Given the description of an element on the screen output the (x, y) to click on. 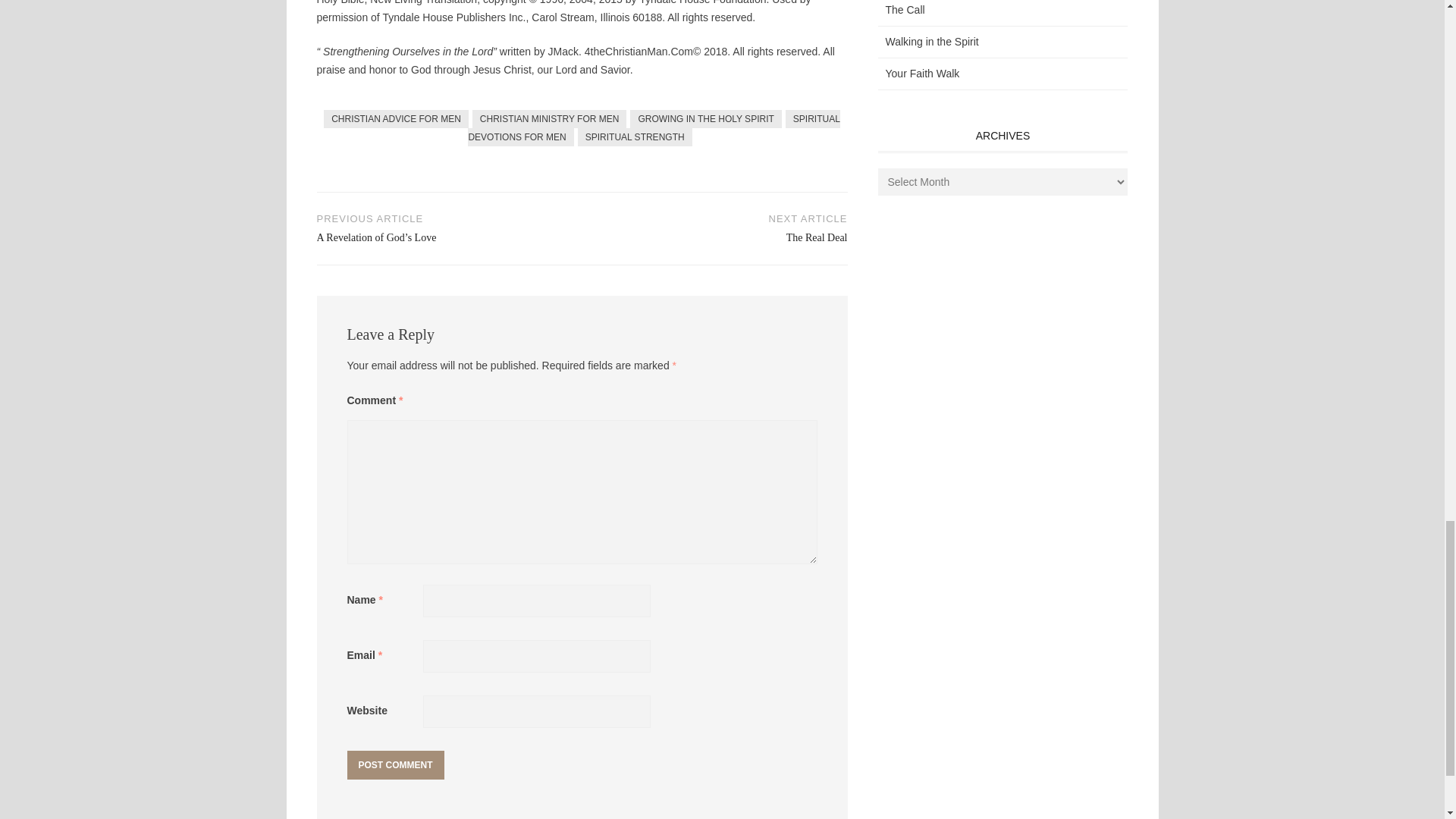
Post Comment (395, 765)
SPIRITUAL DEVOTIONS FOR MEN (653, 127)
SPIRITUAL STRENGTH (635, 136)
CHRISTIAN ADVICE FOR MEN (395, 118)
CHRISTIAN MINISTRY FOR MEN (549, 118)
Post Comment (395, 765)
GROWING IN THE HOLY SPIRIT (705, 118)
